Given the description of an element on the screen output the (x, y) to click on. 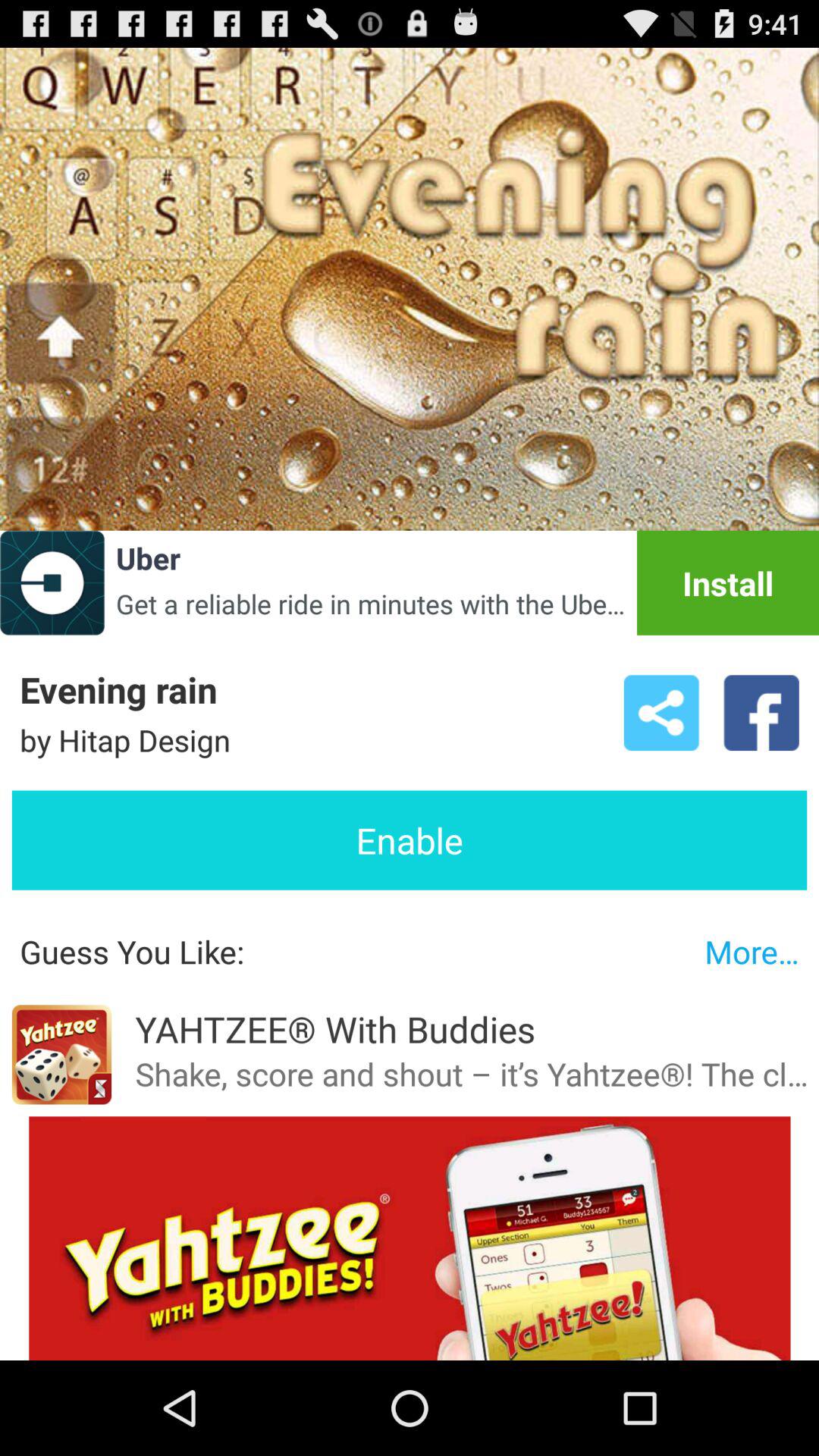
tap the icon to the right of by hitap design (661, 712)
